Given the description of an element on the screen output the (x, y) to click on. 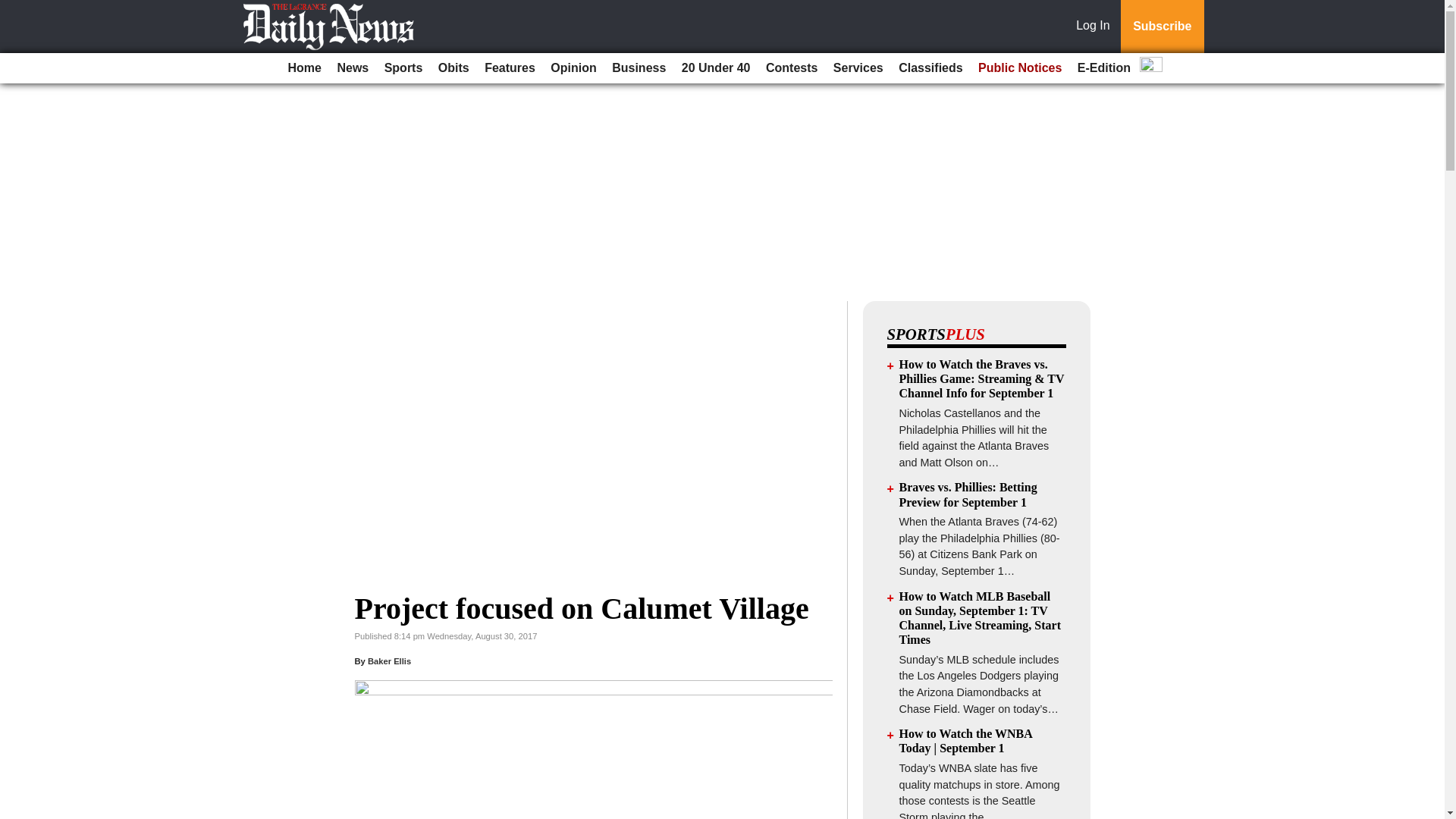
Home (304, 68)
Go (13, 9)
News (352, 68)
Sports (403, 68)
Classifieds (930, 68)
Obits (454, 68)
Features (510, 68)
Braves vs. Phillies: Betting Preview for September 1 (967, 493)
Business (638, 68)
Subscribe (1162, 26)
